Given the description of an element on the screen output the (x, y) to click on. 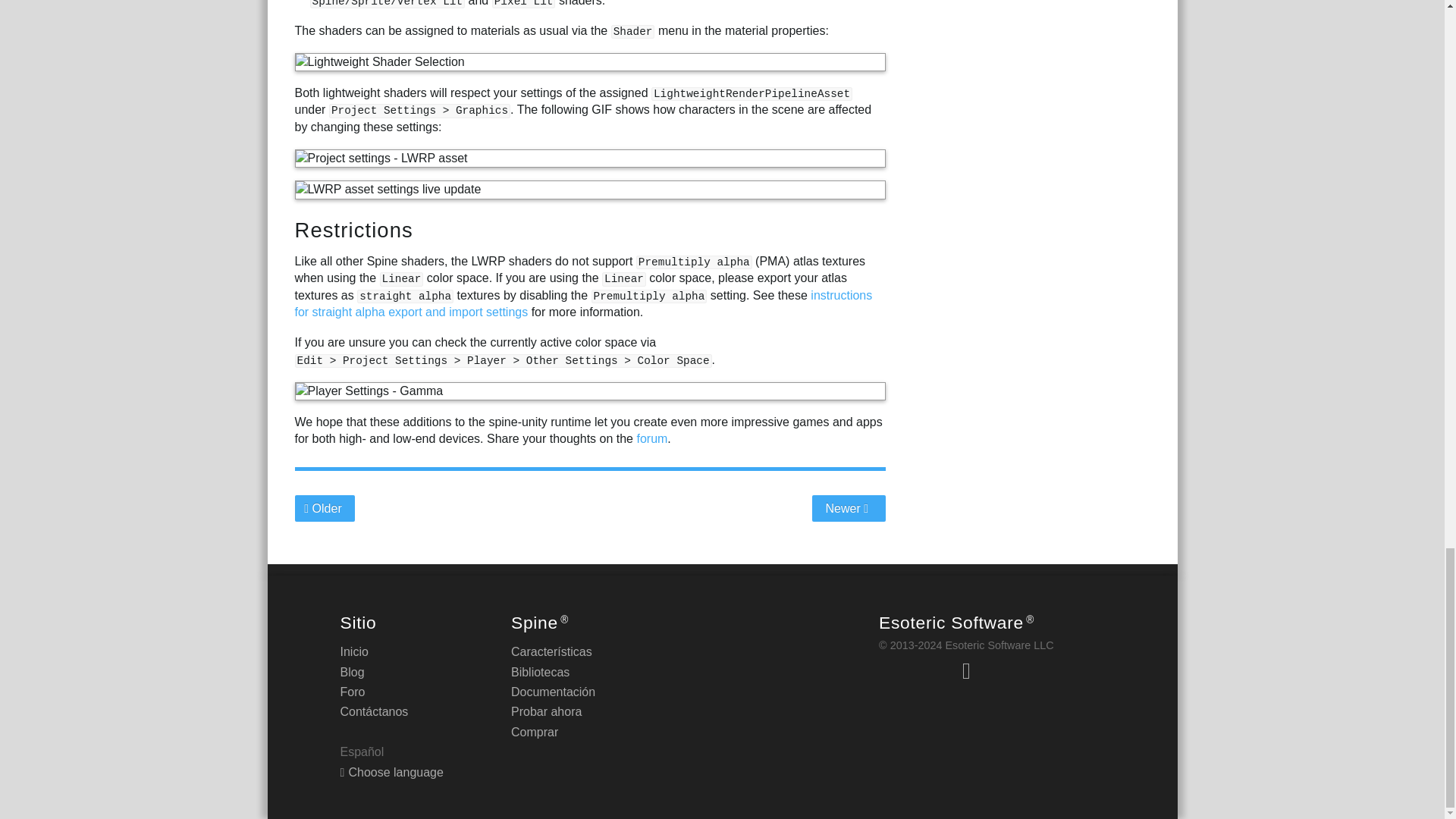
Restrictions (353, 229)
